Given the description of an element on the screen output the (x, y) to click on. 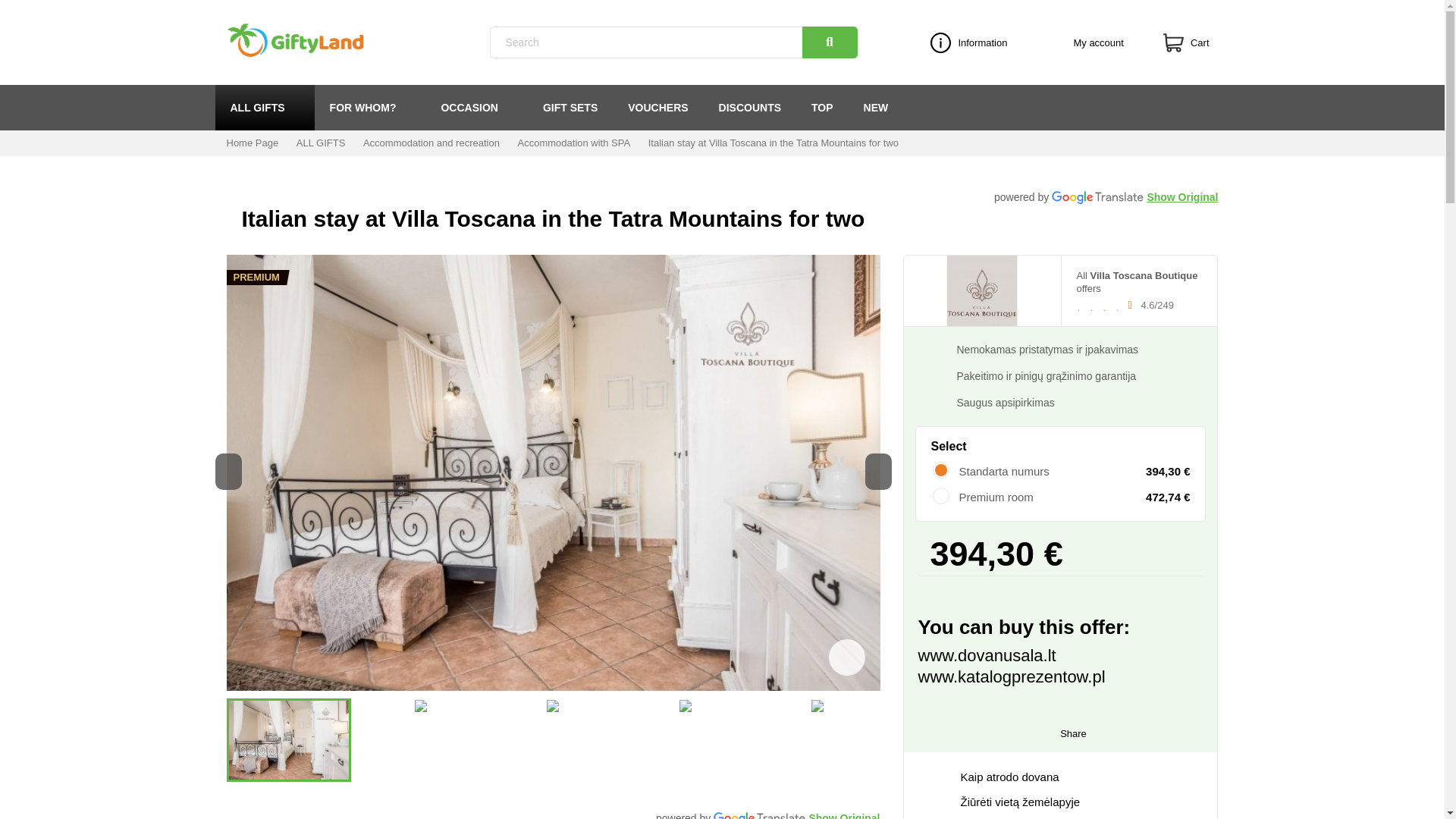
ALL GIFTS (264, 107)
ALL GIFTS (264, 107)
Information (973, 42)
giftyland.com (324, 41)
Cart (1190, 42)
My account (1089, 42)
